Given the description of an element on the screen output the (x, y) to click on. 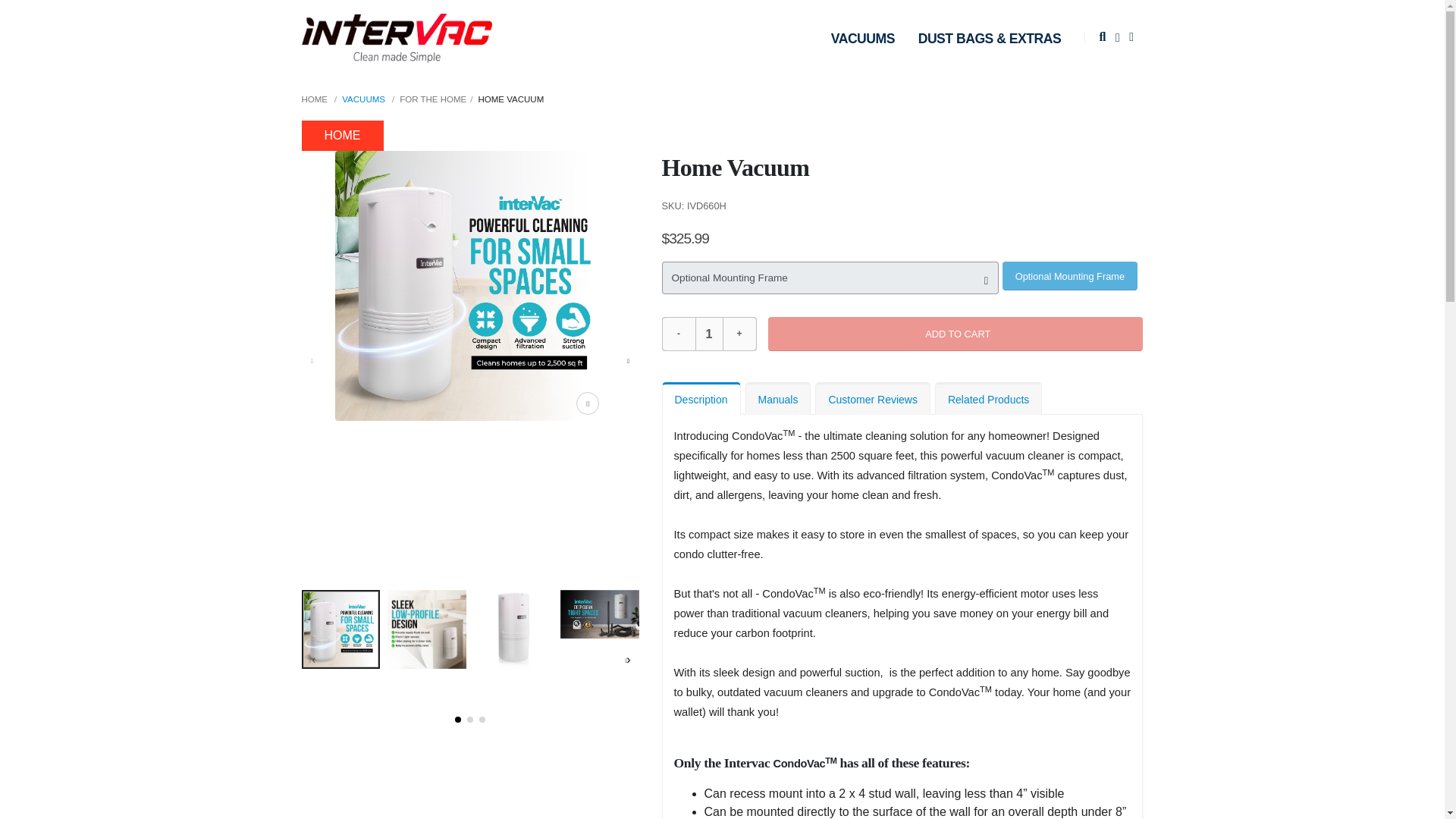
VACUUMS (862, 38)
- (678, 333)
Qty (708, 333)
1 (708, 333)
